Given the description of an element on the screen output the (x, y) to click on. 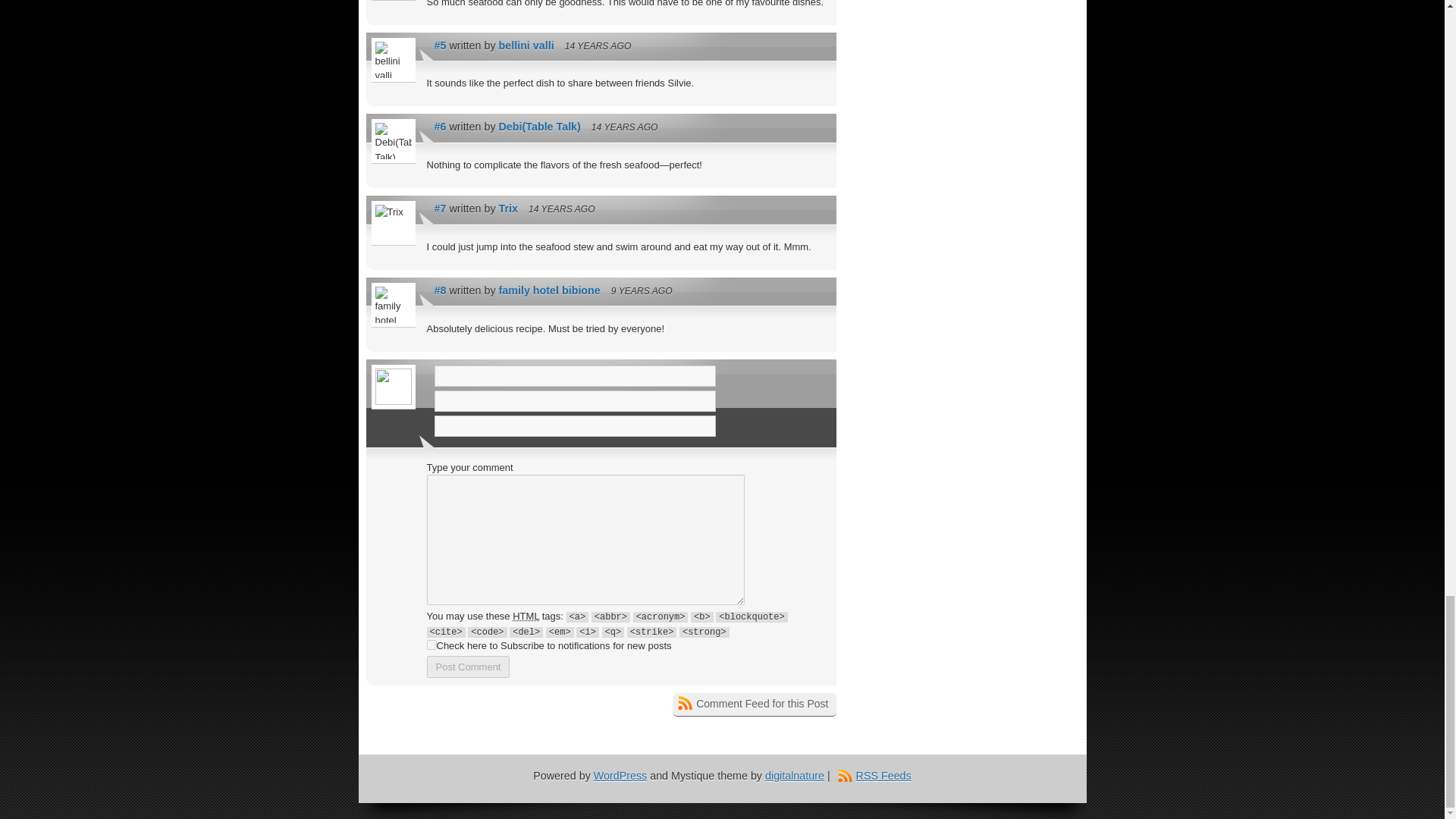
Post Comment (467, 667)
1 (430, 644)
